Given the description of an element on the screen output the (x, y) to click on. 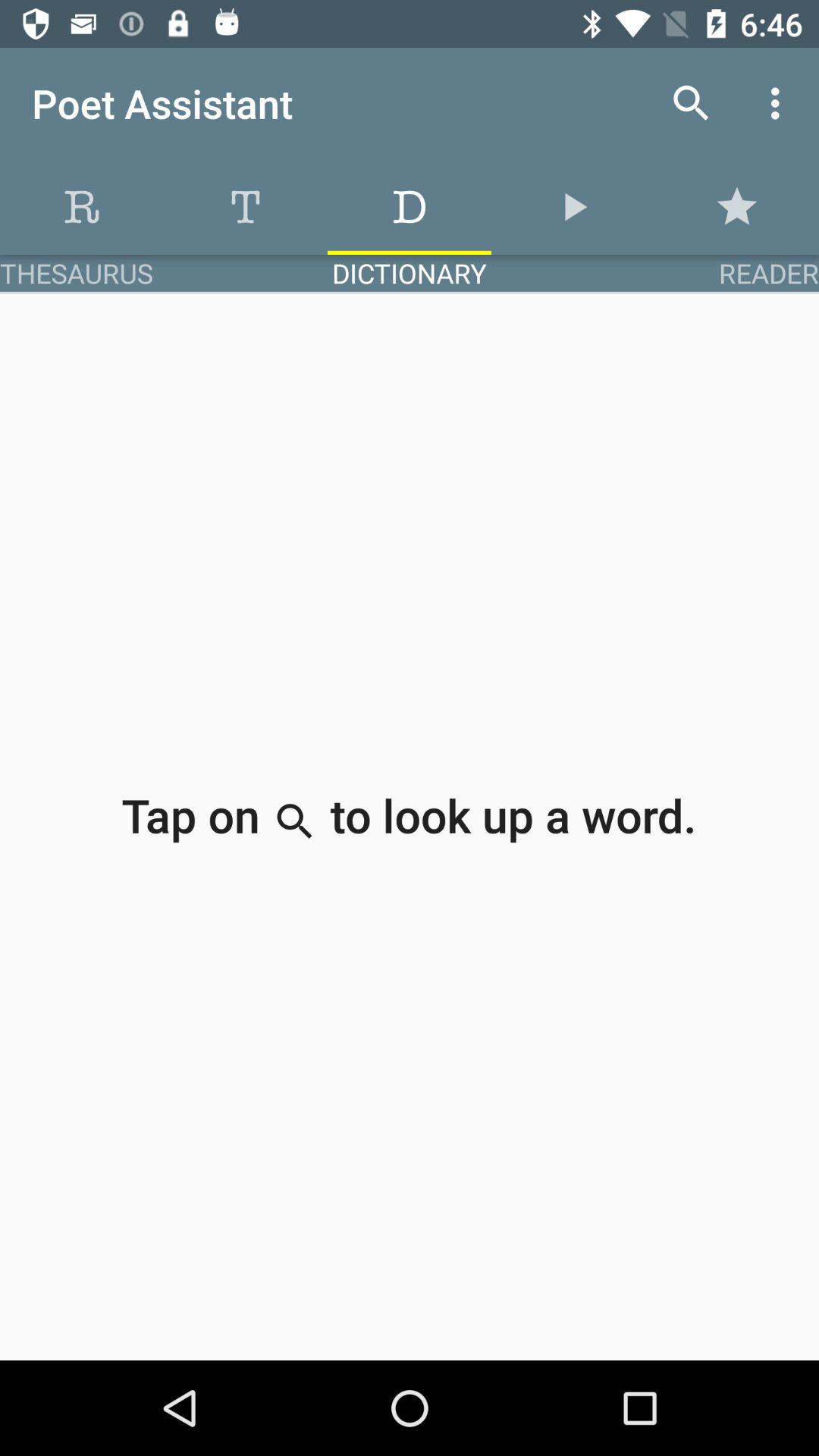
turn on item next to the poet assistant (691, 103)
